Given the description of an element on the screen output the (x, y) to click on. 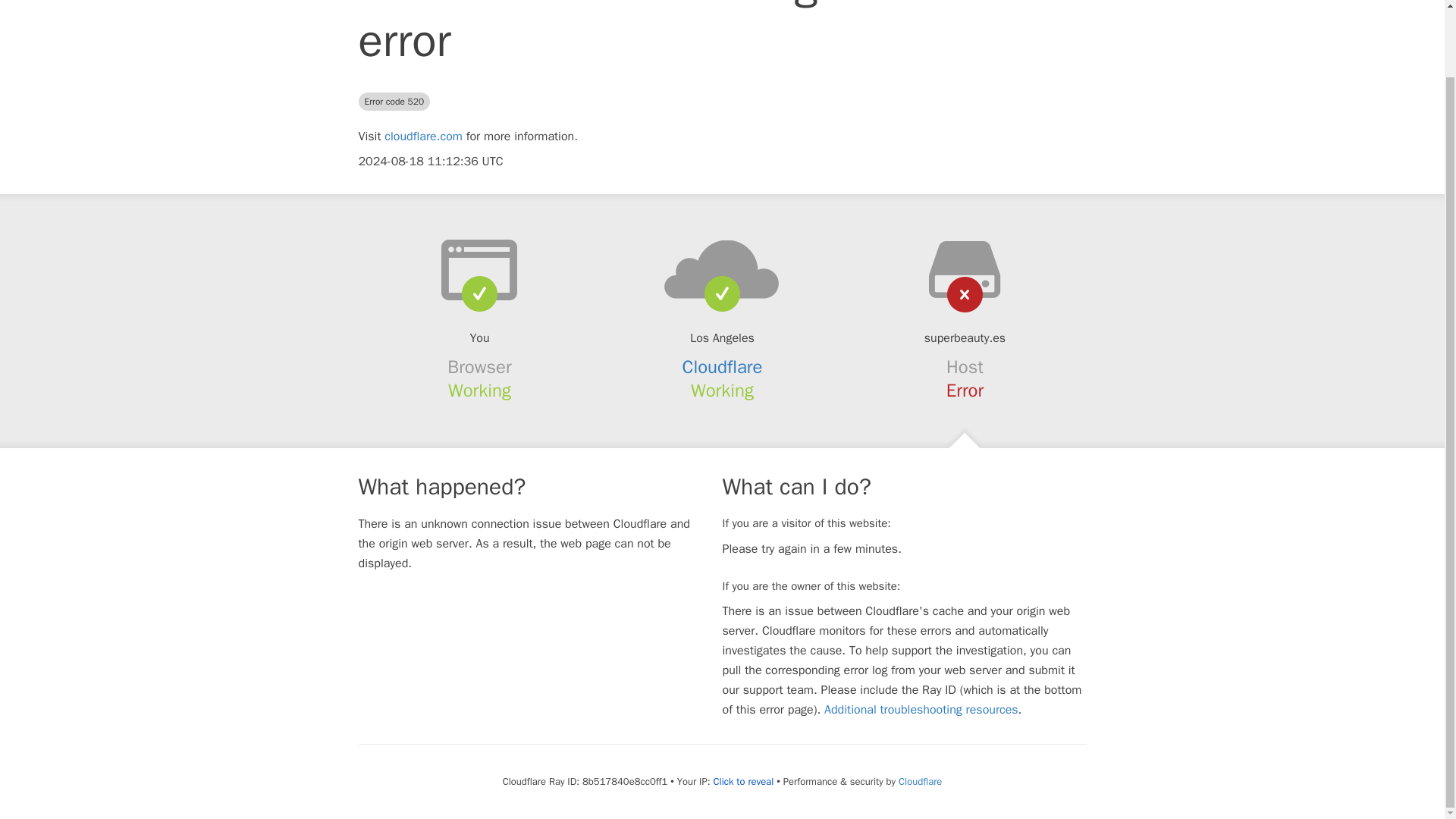
Click to reveal (743, 781)
Additional troubleshooting resources (920, 709)
cloudflare.com (423, 136)
Cloudflare (920, 780)
Cloudflare (722, 366)
